Given the description of an element on the screen output the (x, y) to click on. 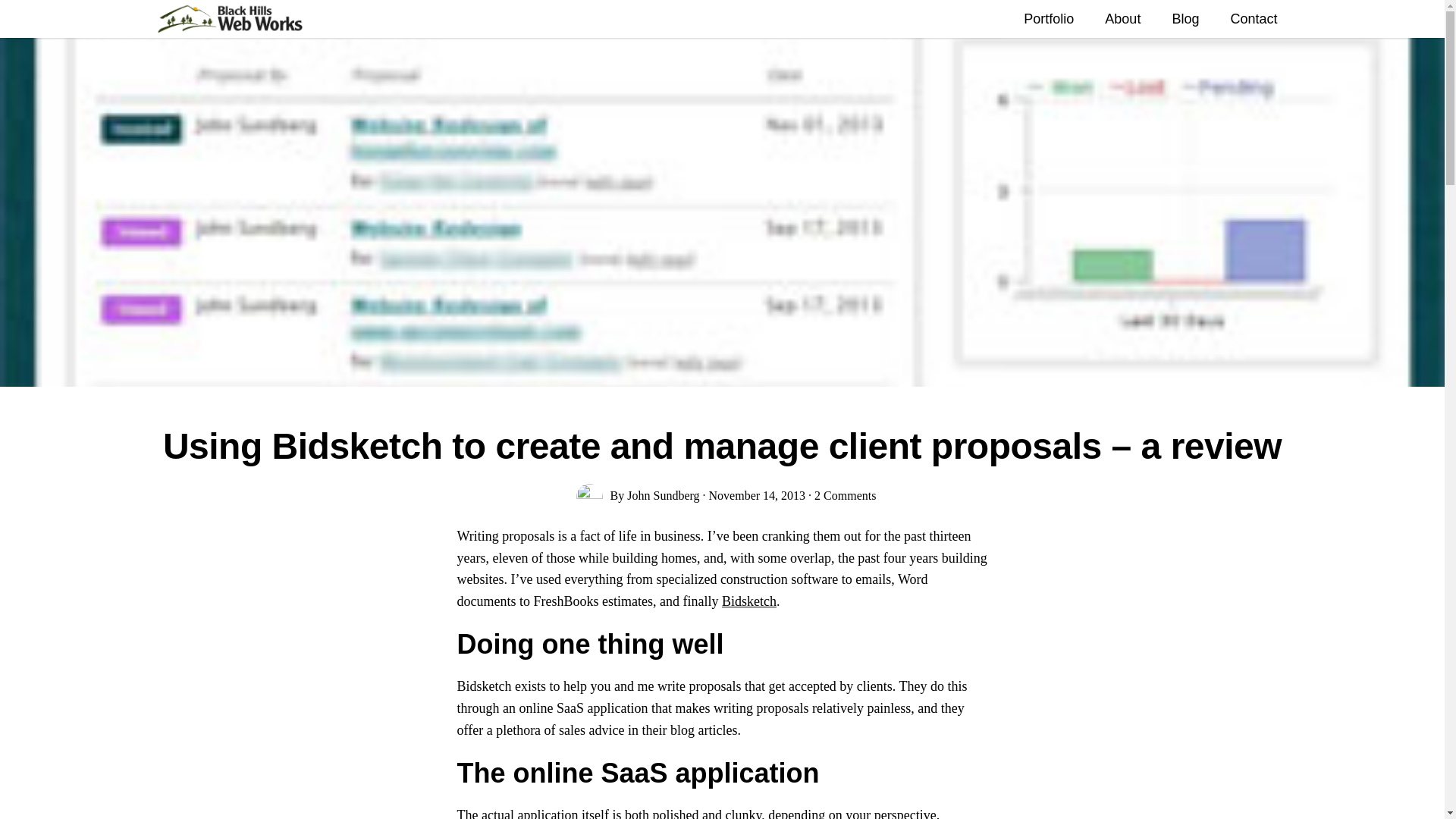
Bidsketch (749, 601)
About (1122, 20)
Portfolio (1048, 20)
Blog (1184, 20)
2 Comments (844, 495)
Contact (1252, 20)
